Given the description of an element on the screen output the (x, y) to click on. 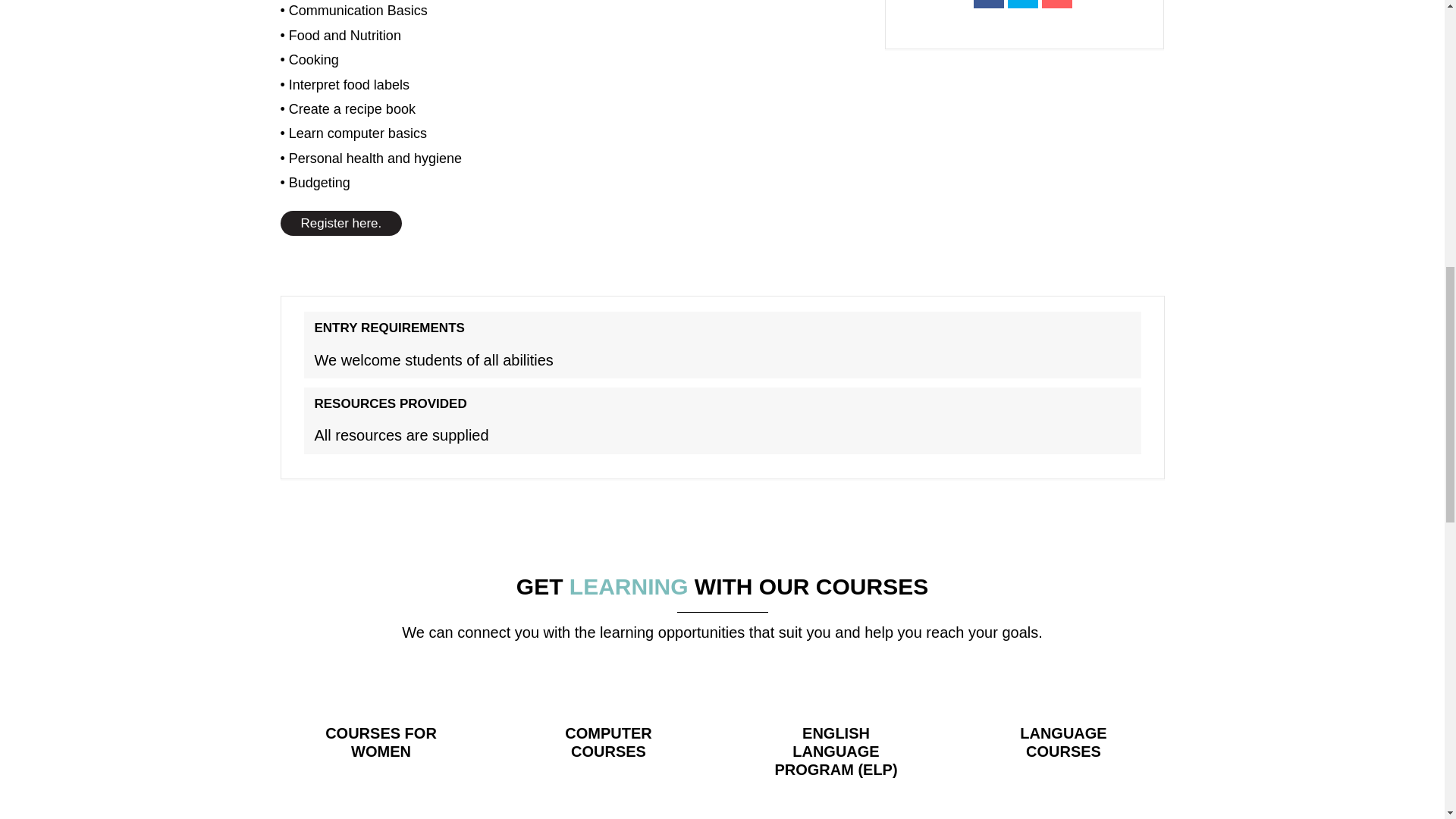
Computer courses (607, 742)
Courses for women (380, 742)
Tweet (1022, 4)
Email (1056, 4)
Share on Facebook (989, 4)
